Given the description of an element on the screen output the (x, y) to click on. 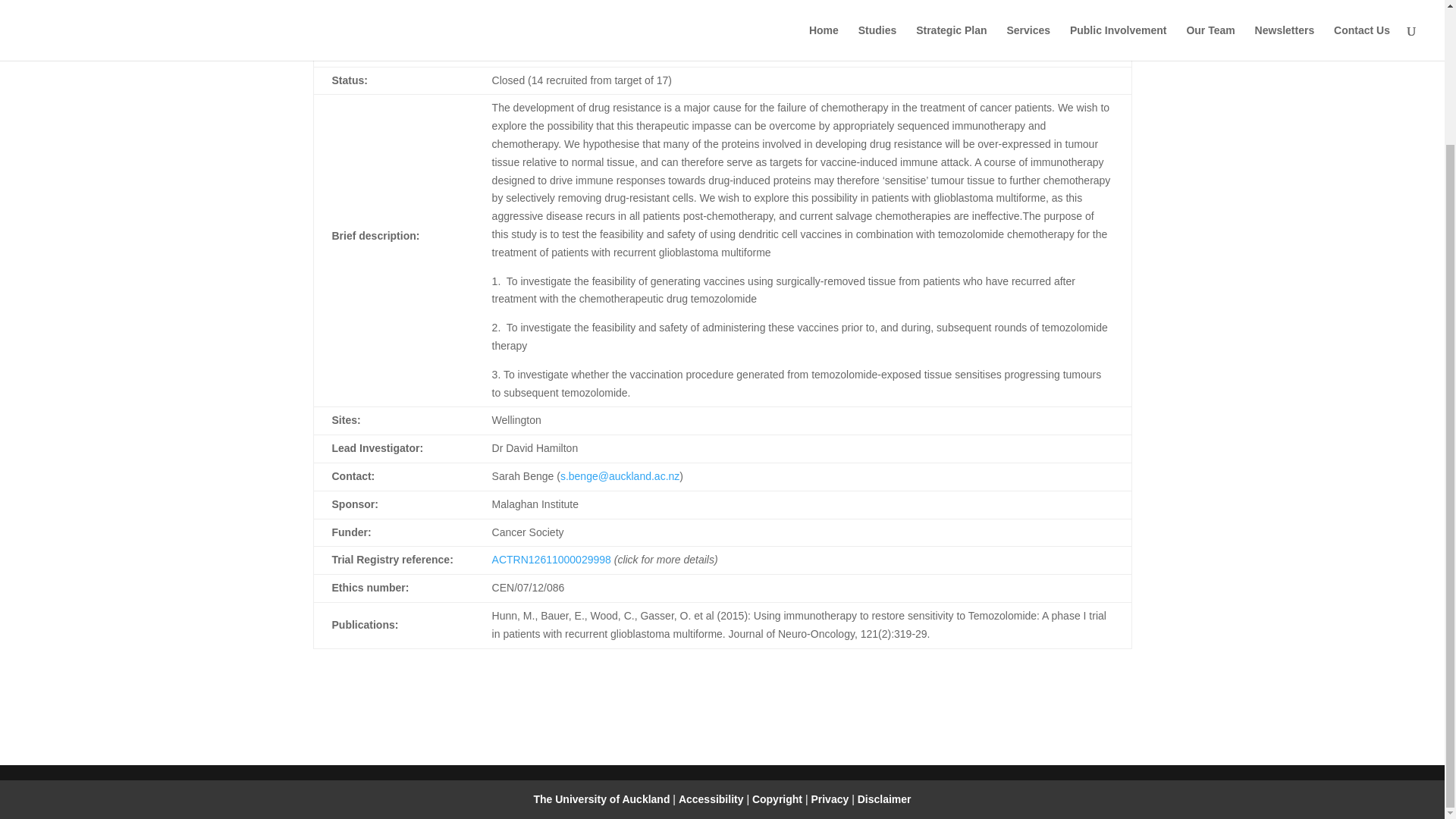
Disclaimer (884, 799)
Accessibility (712, 799)
Copyright (778, 799)
ACTRN12611000029998 (551, 559)
Privacy (830, 799)
The University of Auckland (600, 799)
